Given the description of an element on the screen output the (x, y) to click on. 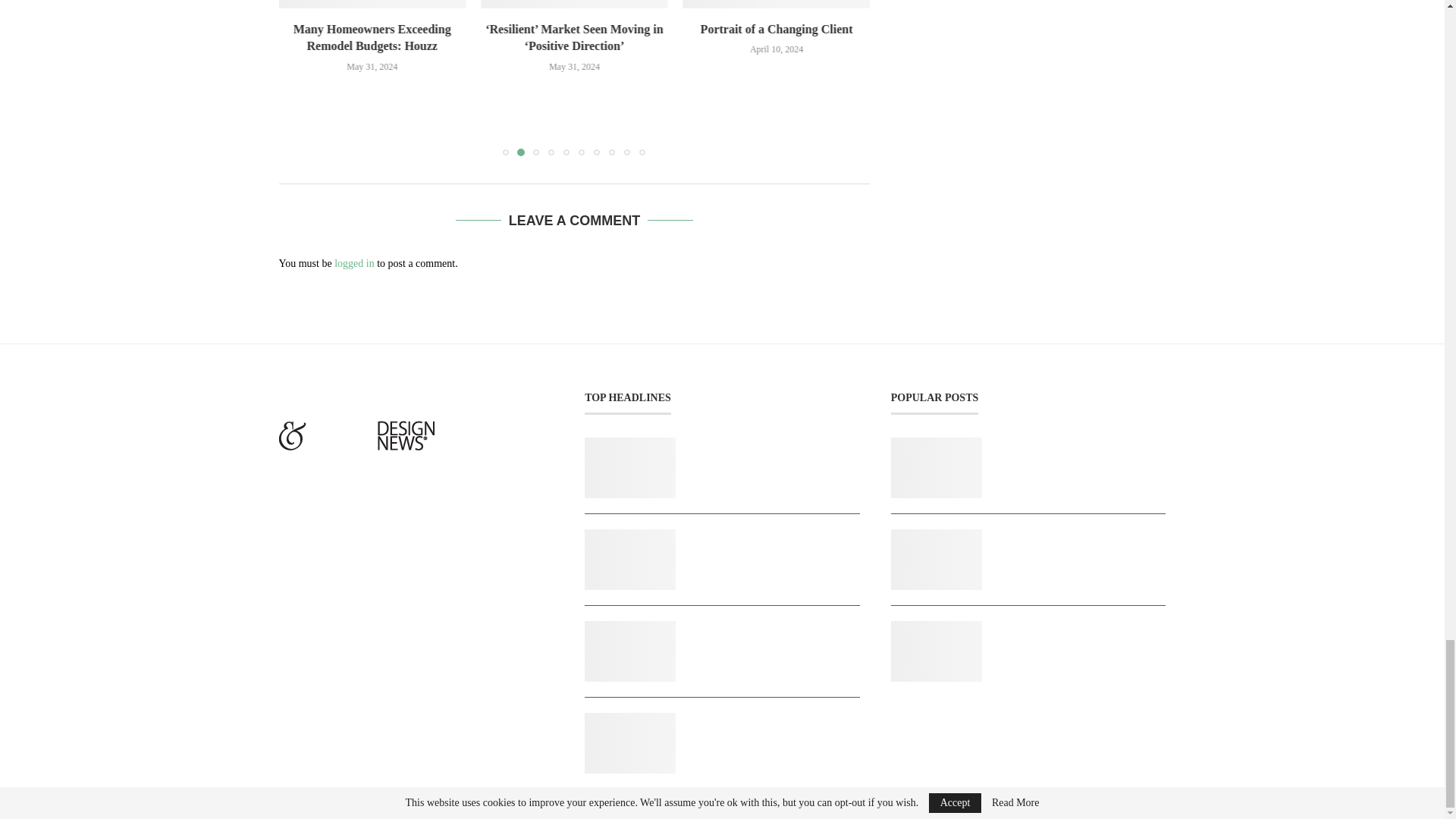
Portrait of a Changing Client (776, 3)
Many Homeowners Exceeding Remodel Budgets: Houzz (371, 3)
